Given the description of an element on the screen output the (x, y) to click on. 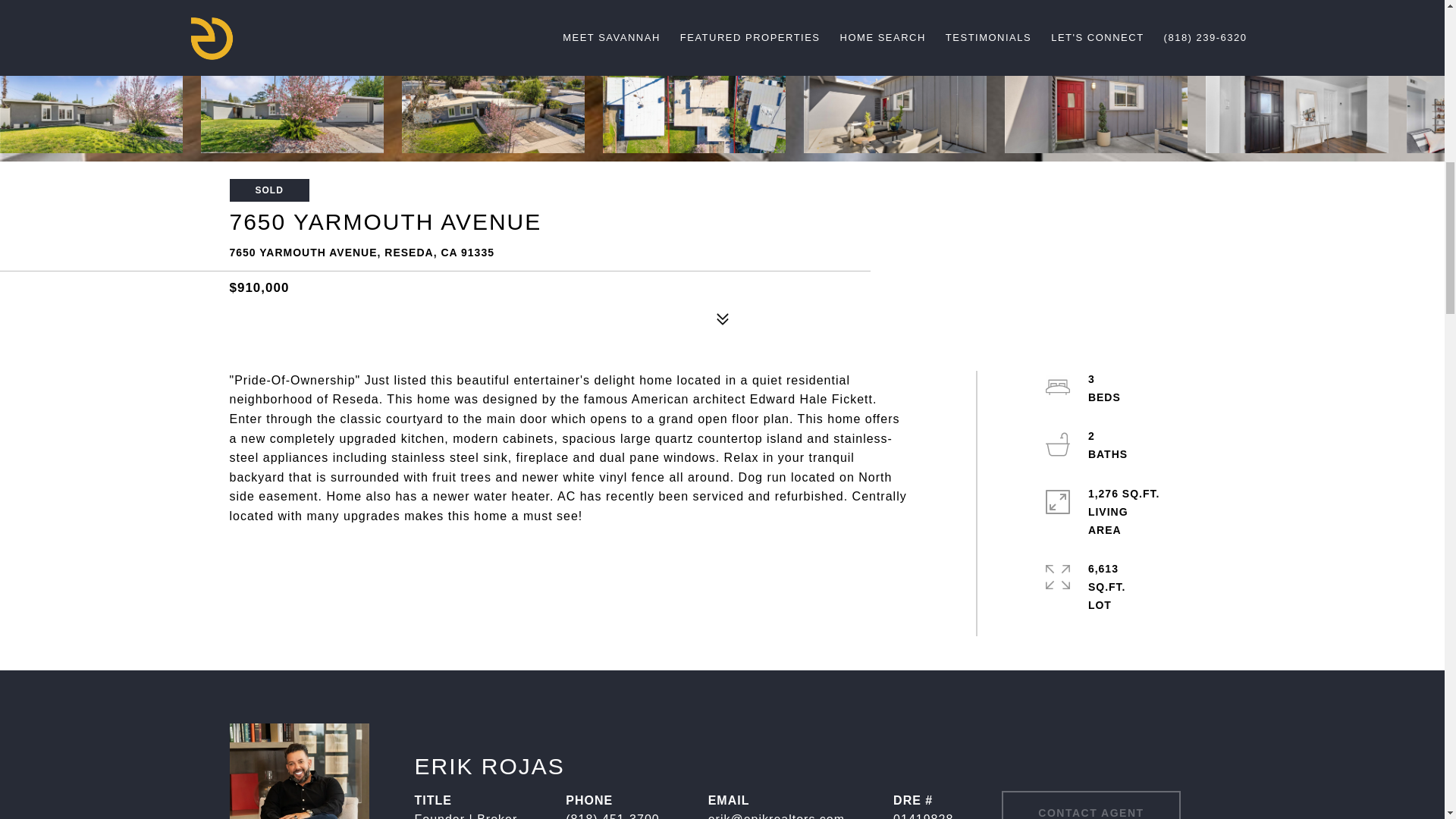
CONTACT AGENT (1090, 805)
